Given the description of an element on the screen output the (x, y) to click on. 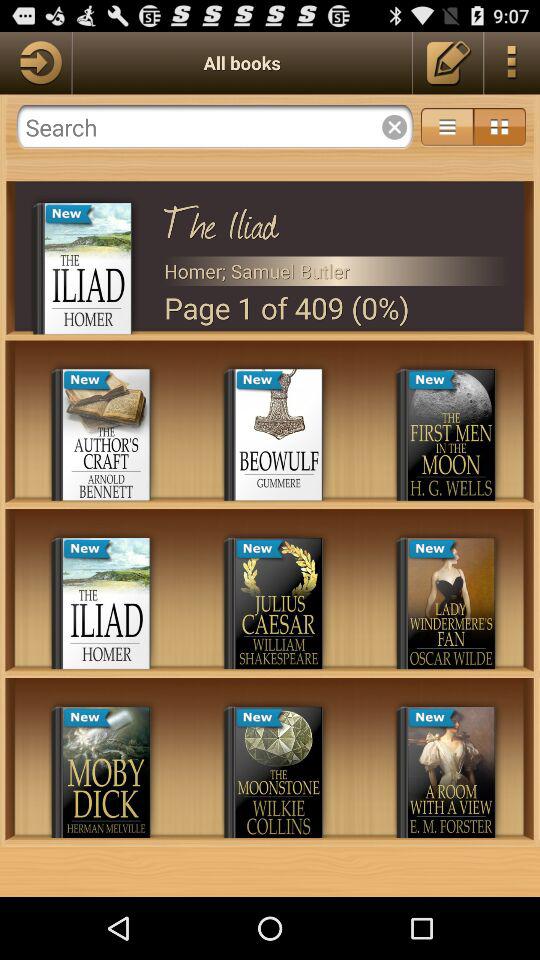
go to next page (35, 62)
